Given the description of an element on the screen output the (x, y) to click on. 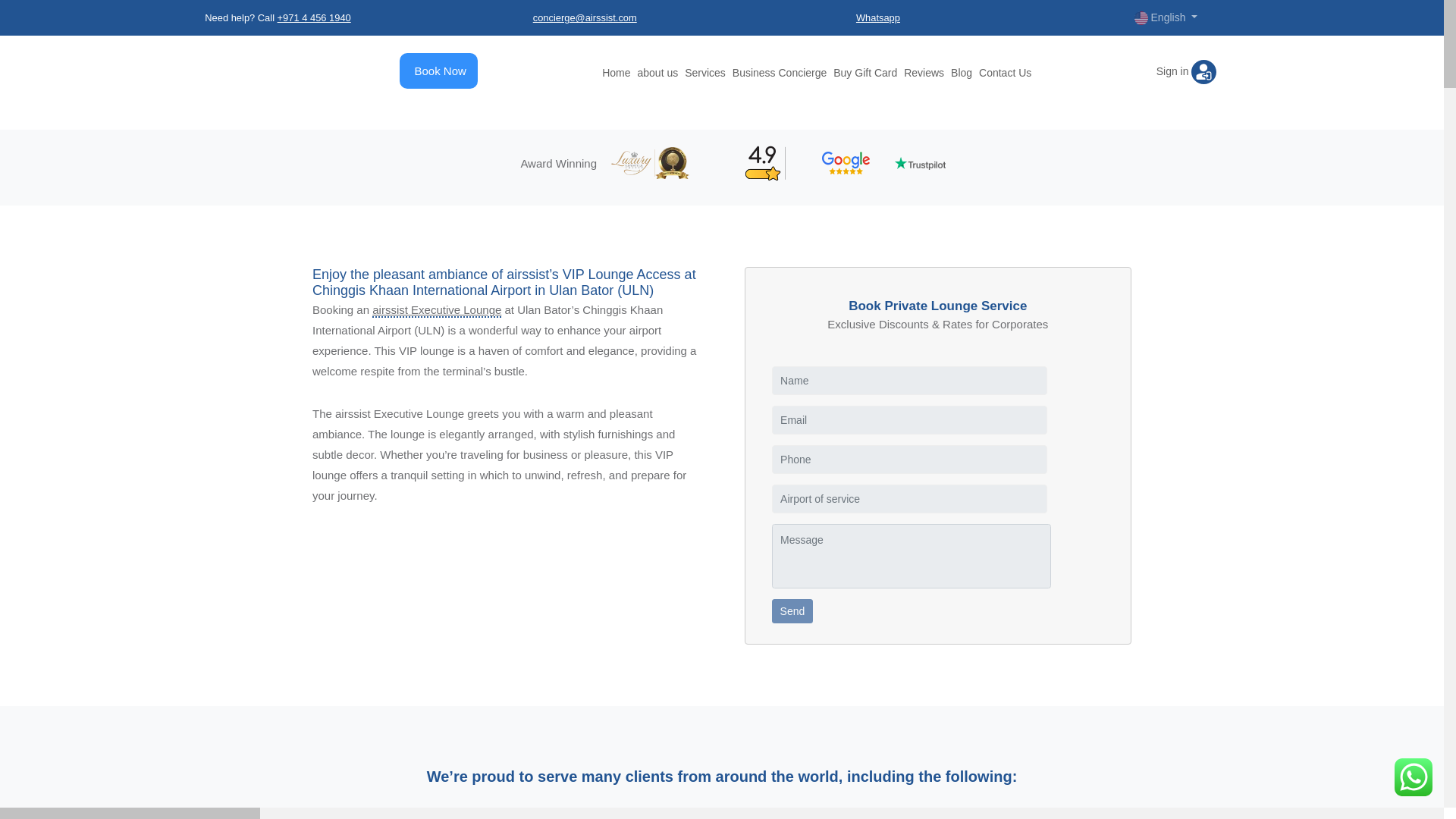
English (1166, 17)
Book Now (439, 70)
Services (704, 72)
Blog (961, 72)
Home (616, 72)
Whatsapp (877, 17)
Business Concierge (779, 72)
Buy Gift Card (864, 72)
about us (657, 72)
Contact Us (1004, 72)
Send (791, 610)
Reviews (923, 72)
